Given the description of an element on the screen output the (x, y) to click on. 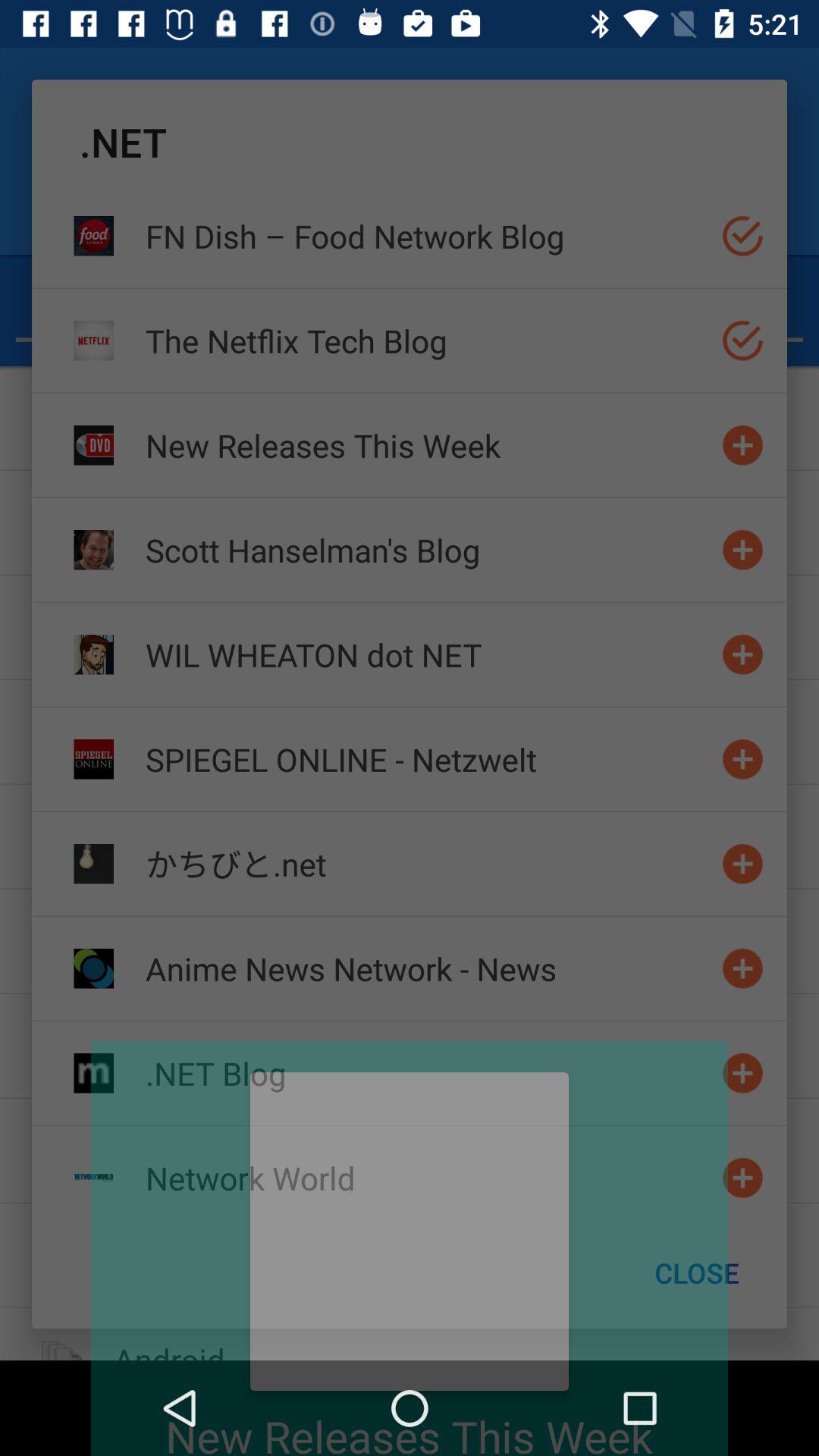
add website (742, 863)
